Given the description of an element on the screen output the (x, y) to click on. 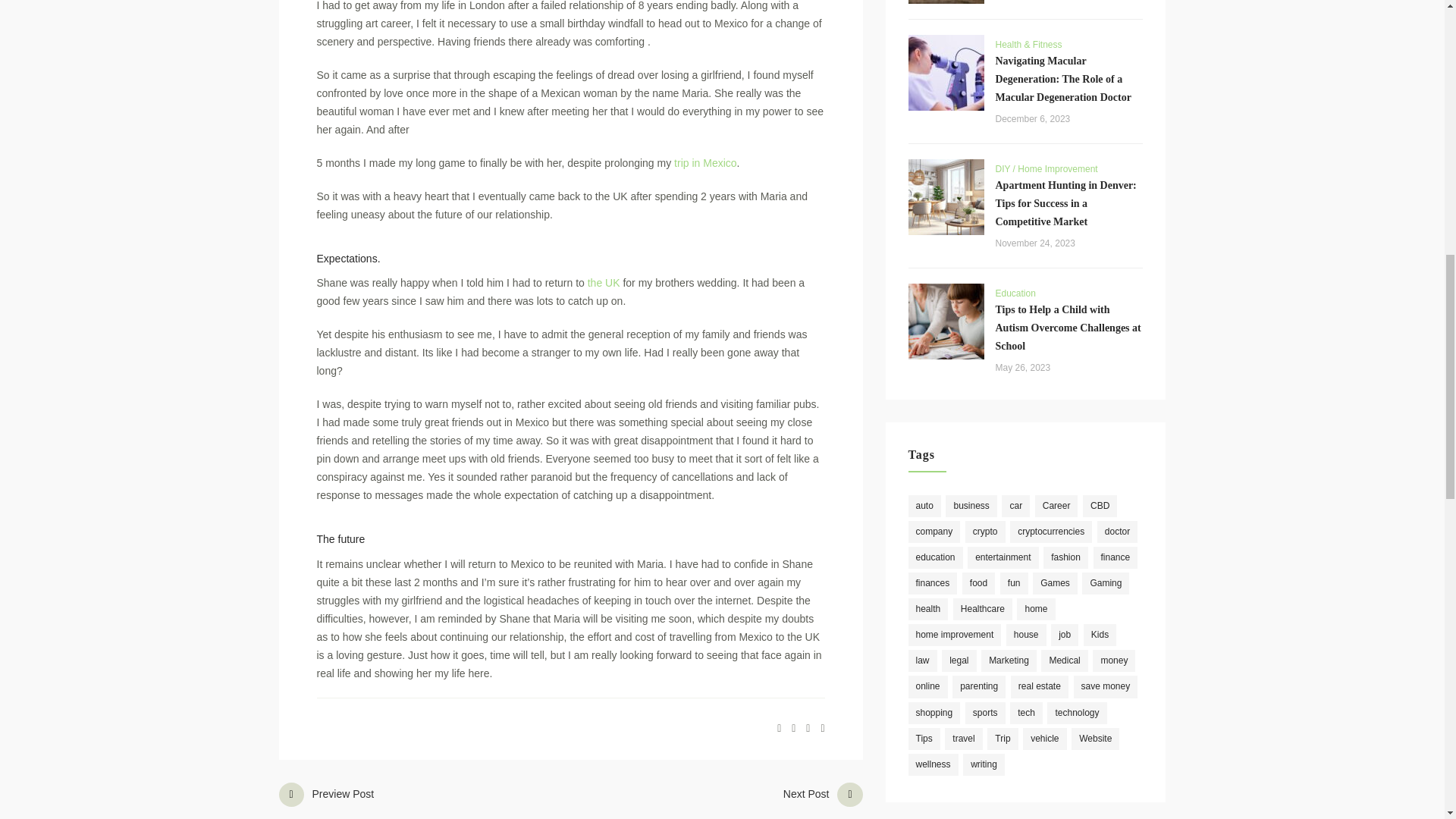
trip in Mexico (703, 162)
the UK (602, 282)
next post (766, 798)
prev post (416, 798)
